Given the description of an element on the screen output the (x, y) to click on. 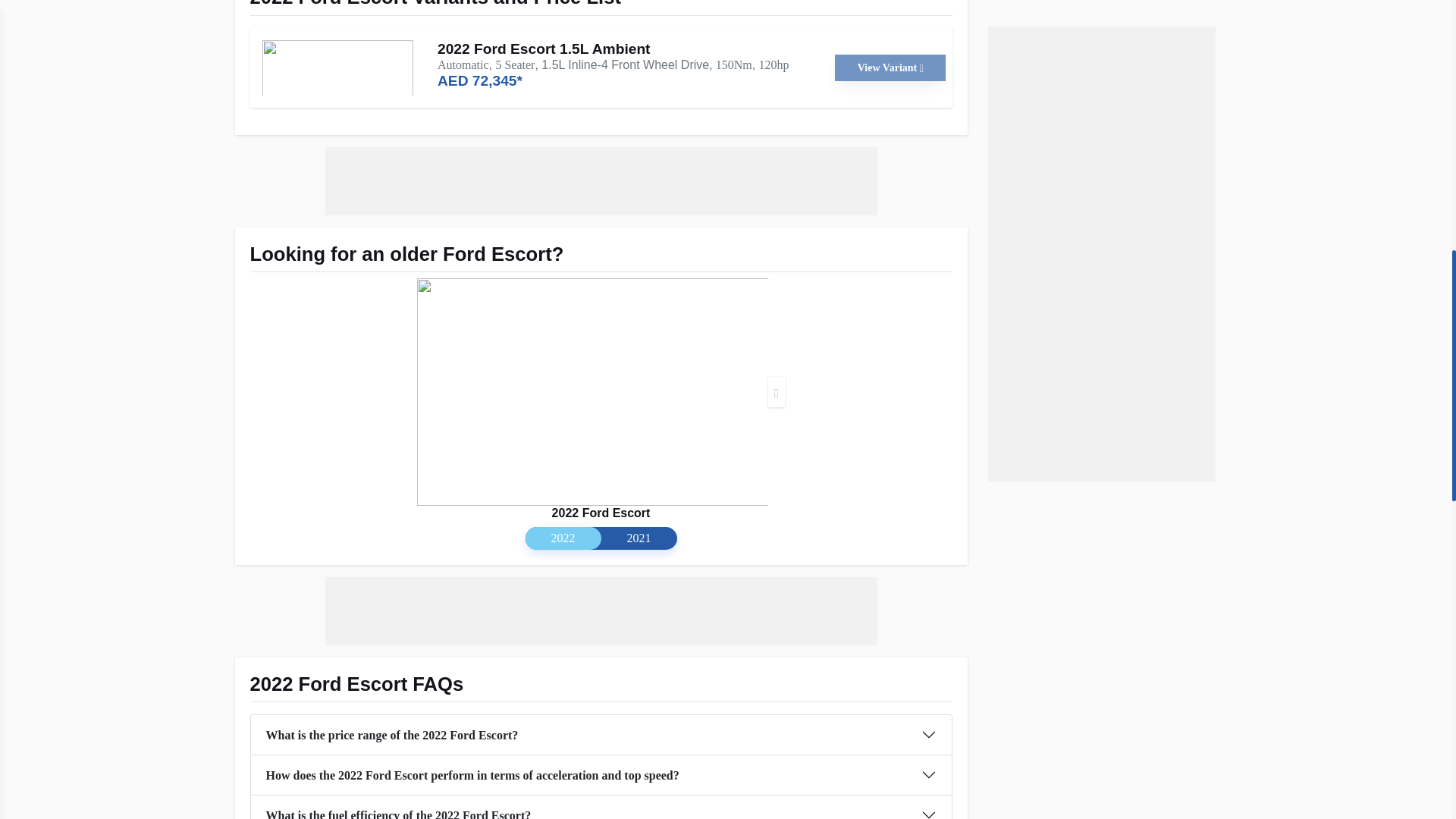
View Variant (889, 67)
2022 Ford Escort (601, 513)
What is the price range of the 2022 Ford Escort? (600, 734)
What is the fuel efficiency of the 2022 Ford Escort? (600, 807)
